Given the description of an element on the screen output the (x, y) to click on. 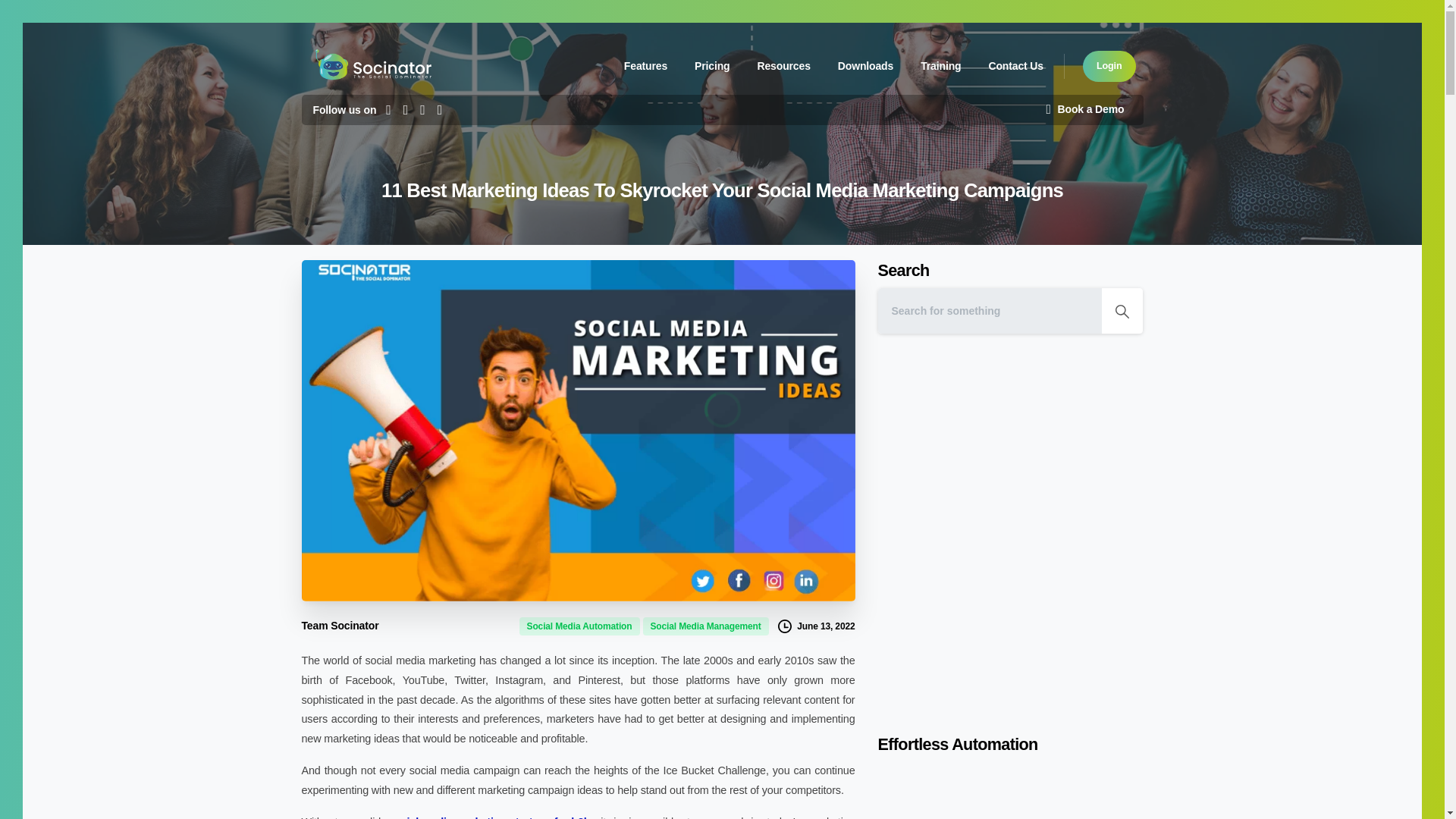
Book a Demo (1084, 110)
Shape (1122, 311)
Resources (783, 66)
Contact Us (744, 65)
Pricing (1014, 66)
Features (711, 66)
Login (644, 66)
Downloads (1109, 65)
Resources (865, 66)
Pricing (783, 66)
Training (711, 66)
Features (940, 66)
